Given the description of an element on the screen output the (x, y) to click on. 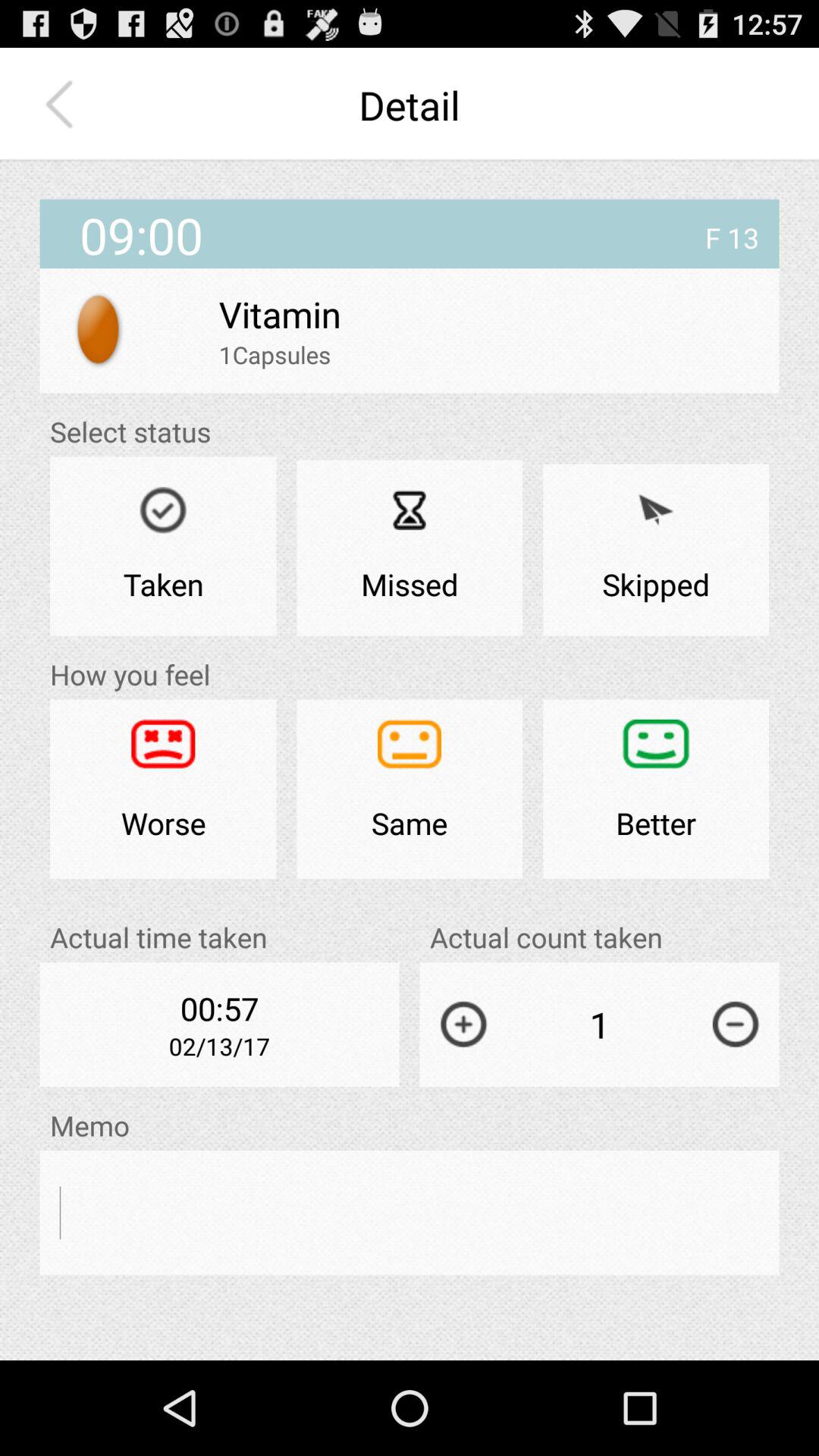
scroll to better item (655, 788)
